Given the description of an element on the screen output the (x, y) to click on. 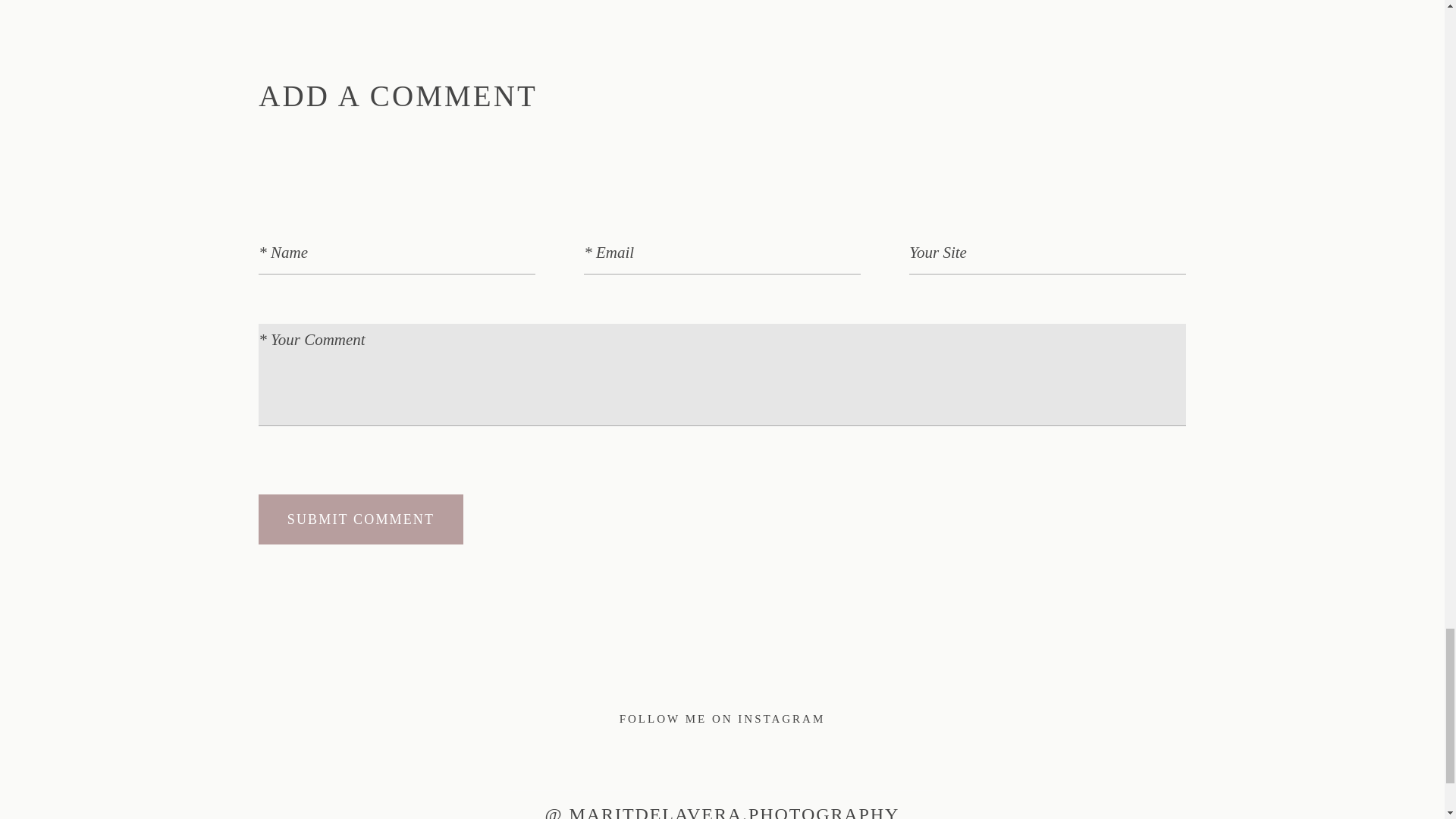
SUBMIT COMMENT (361, 519)
